Given the description of an element on the screen output the (x, y) to click on. 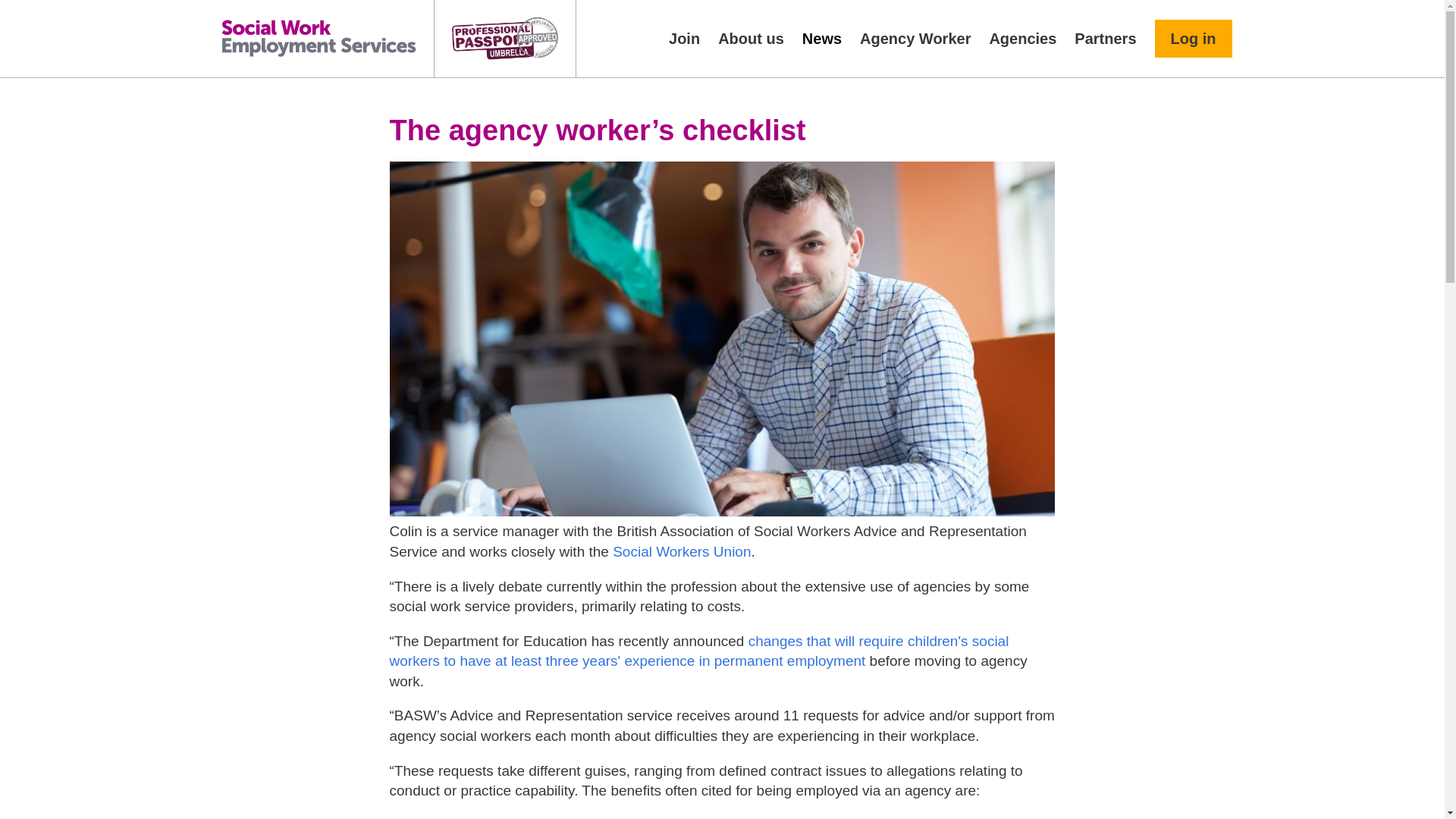
Log in (1192, 38)
Social Workers Union (681, 551)
Agency Worker (914, 38)
Partners (1104, 38)
About us (751, 38)
Agencies (1022, 38)
